Given the description of an element on the screen output the (x, y) to click on. 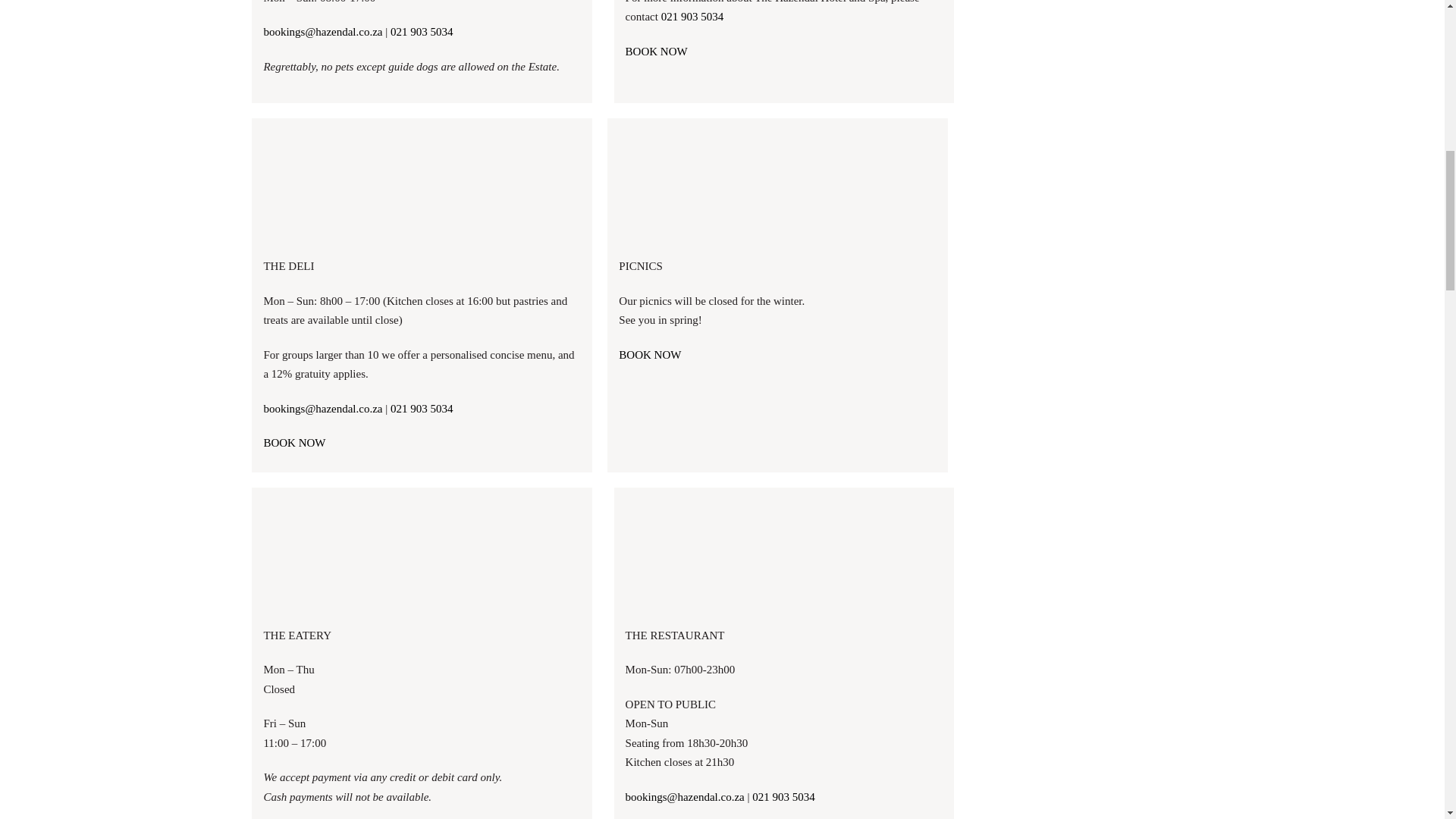
BOOK NOW (656, 51)
021 903 5034 (421, 31)
021 903 5034 (692, 16)
BOOK NOW (649, 354)
BOOK NOW (293, 442)
The-Deli (421, 185)
021 903 5034 (421, 408)
Beer-Garden-Booking (421, 554)
021 903 5034 (783, 796)
dacha-picnic (777, 185)
The-Restaurant (784, 554)
